Given the description of an element on the screen output the (x, y) to click on. 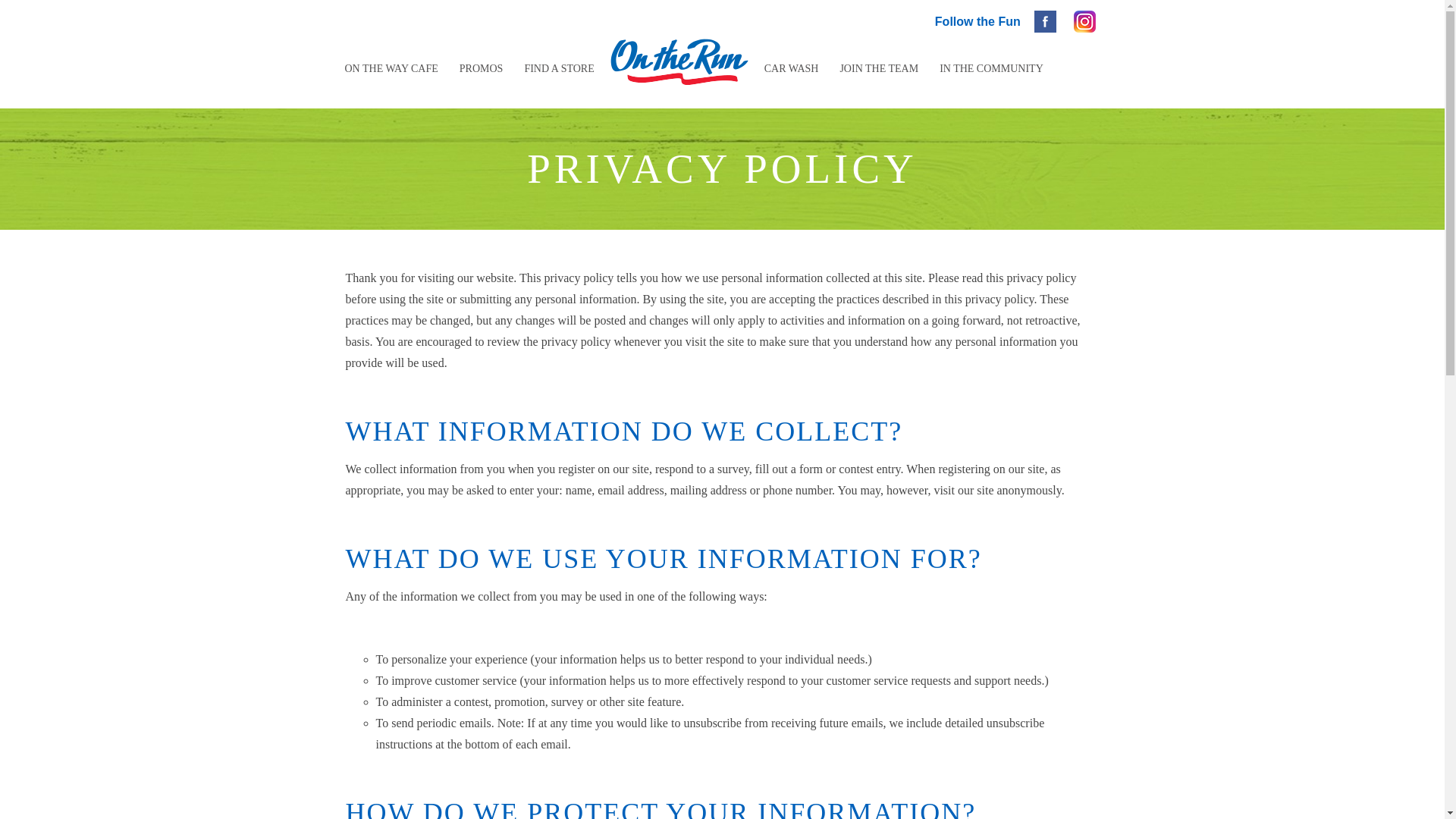
JOIN THE TEAM (878, 57)
PROMOS (480, 57)
CAR WASH (791, 57)
ON THE WAY CAFE (390, 57)
FIND A STORE (558, 57)
IN THE COMMUNITY (991, 57)
